Given the description of an element on the screen output the (x, y) to click on. 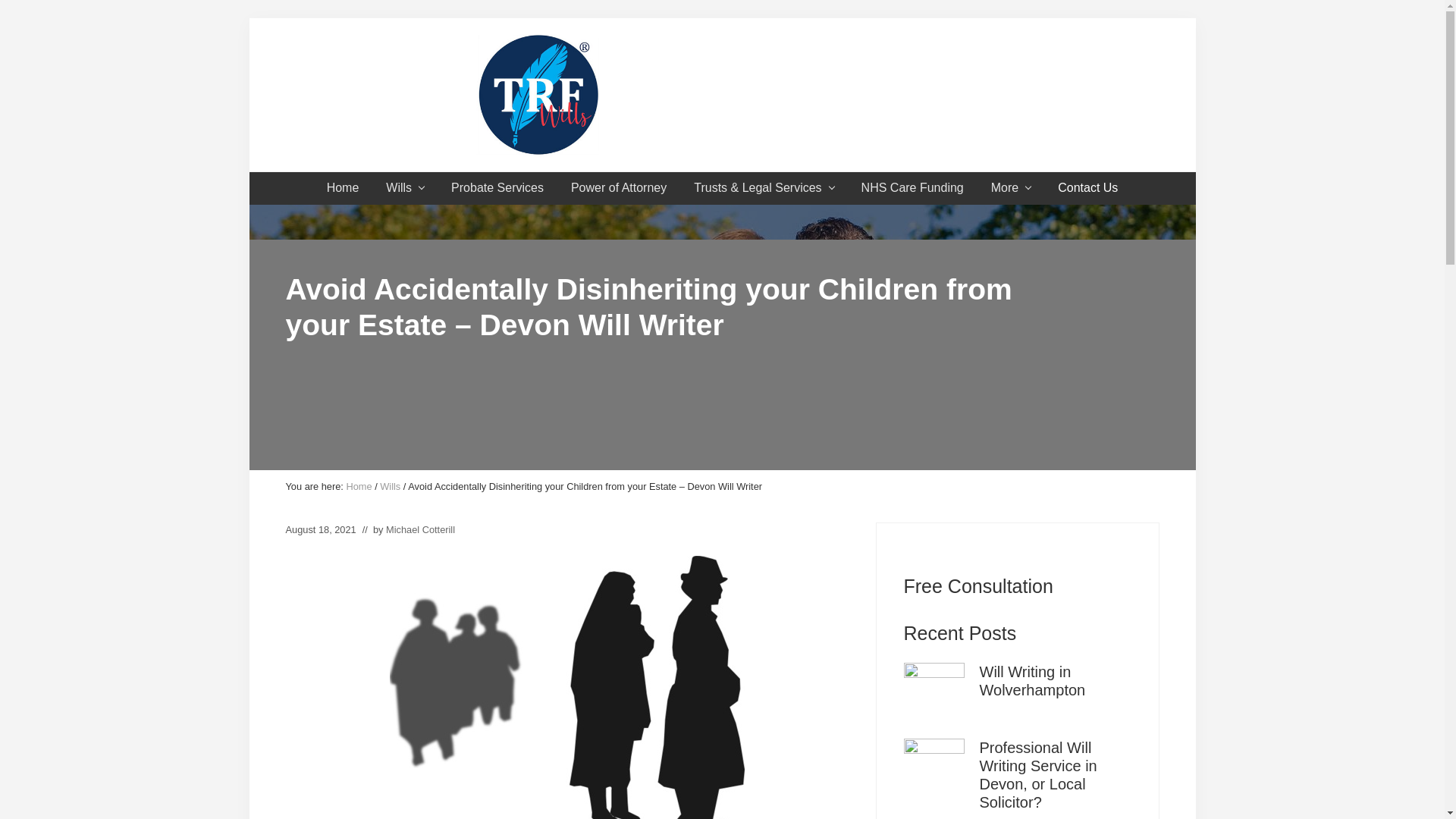
Wills (405, 187)
Contact Us (1087, 187)
Probate Services (497, 187)
More (1009, 187)
Home (342, 187)
Power of Attorney (618, 187)
Home (358, 486)
NHS Care Funding (911, 187)
